Given the description of an element on the screen output the (x, y) to click on. 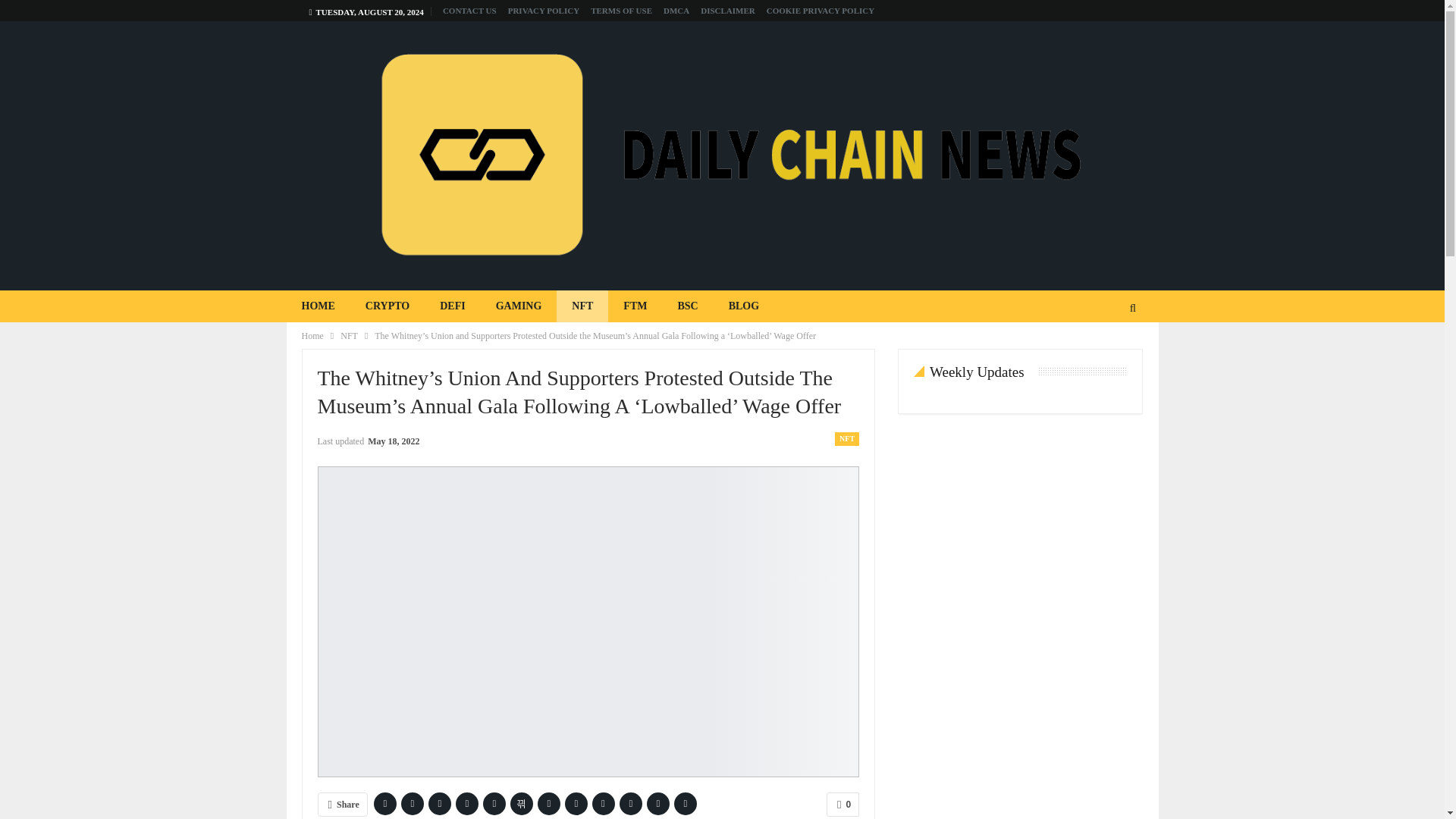
CONTACT US (469, 10)
NFT (846, 438)
CRYPTO (387, 306)
NFT (349, 335)
TERMS OF USE (621, 10)
HOME (318, 306)
0 (843, 804)
DMCA (675, 10)
GAMING (518, 306)
PRIVACY POLICY (543, 10)
